Given the description of an element on the screen output the (x, y) to click on. 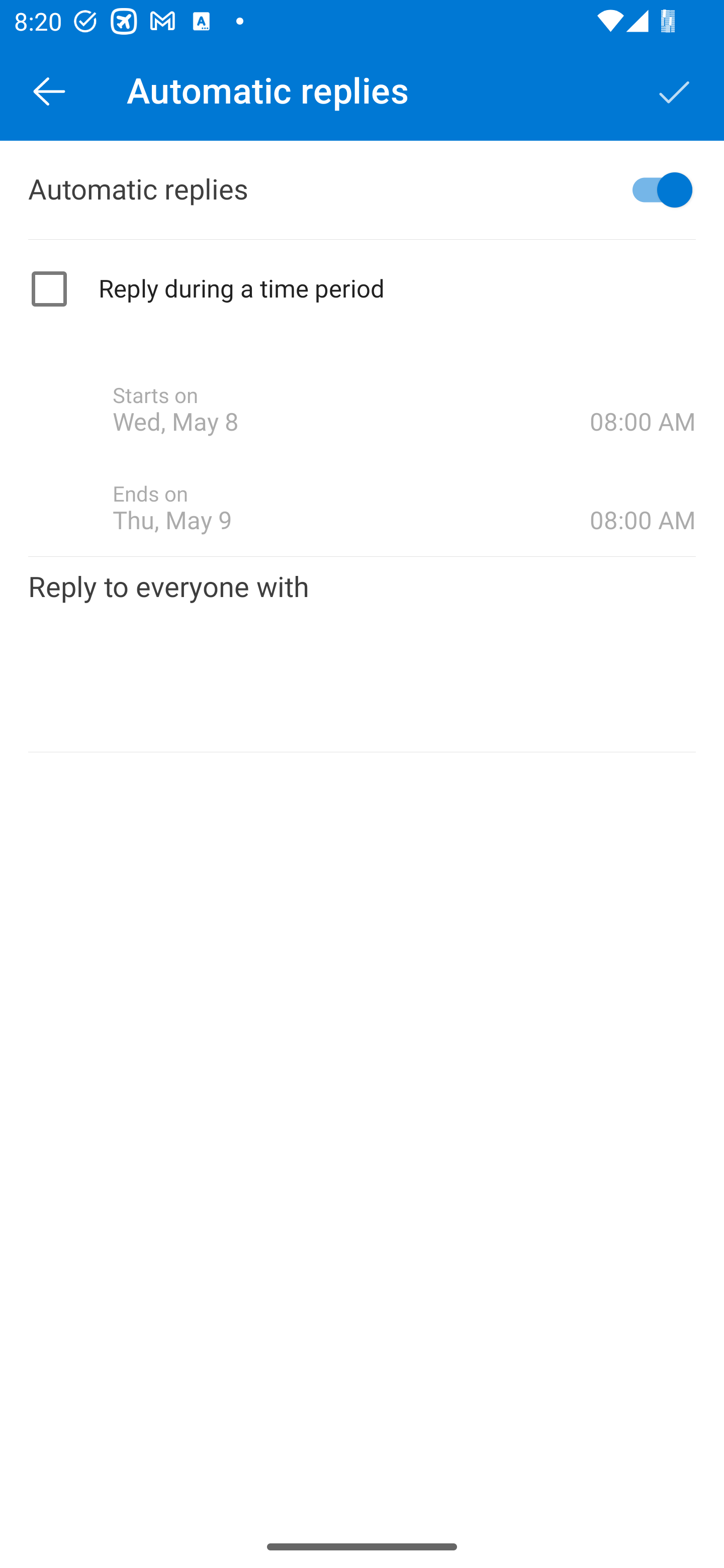
Back (49, 90)
Save (674, 90)
Automatic replies (362, 190)
Reply during a time period (362, 288)
08:00 AM (642, 387)
Starts on Wed, May 8 (351, 409)
08:00 AM (642, 485)
Ends on Thu, May 9 (351, 507)
Reply to everyone with Edit box (361, 653)
